Given the description of an element on the screen output the (x, y) to click on. 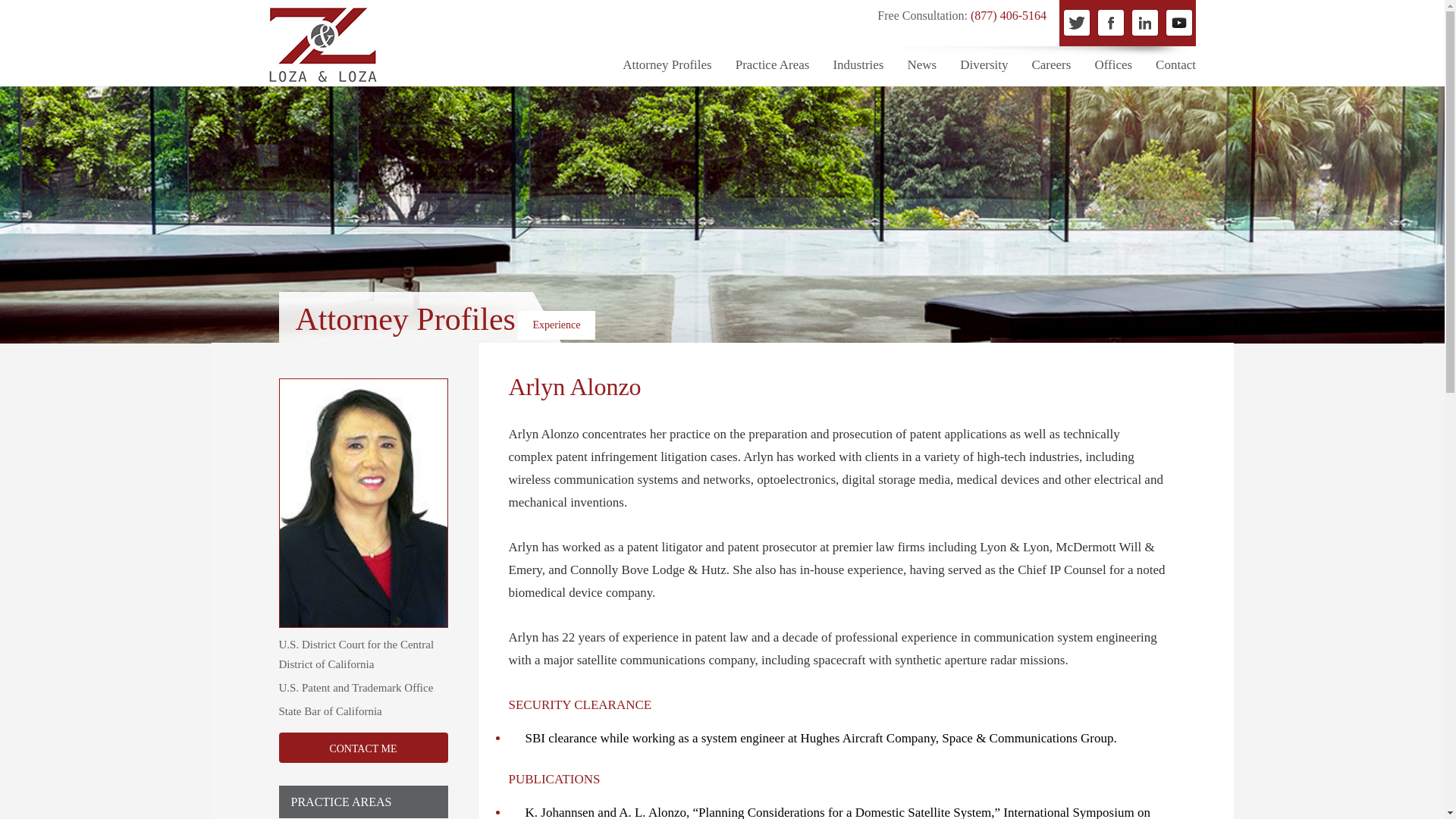
Attorney Profiles (667, 64)
News (921, 64)
Careers (1050, 64)
Experience (555, 325)
Contact (1175, 64)
Industries (857, 64)
CONTACT ME (363, 747)
Offices (1113, 64)
Diversity (983, 64)
Practice Areas (772, 64)
